Given the description of an element on the screen output the (x, y) to click on. 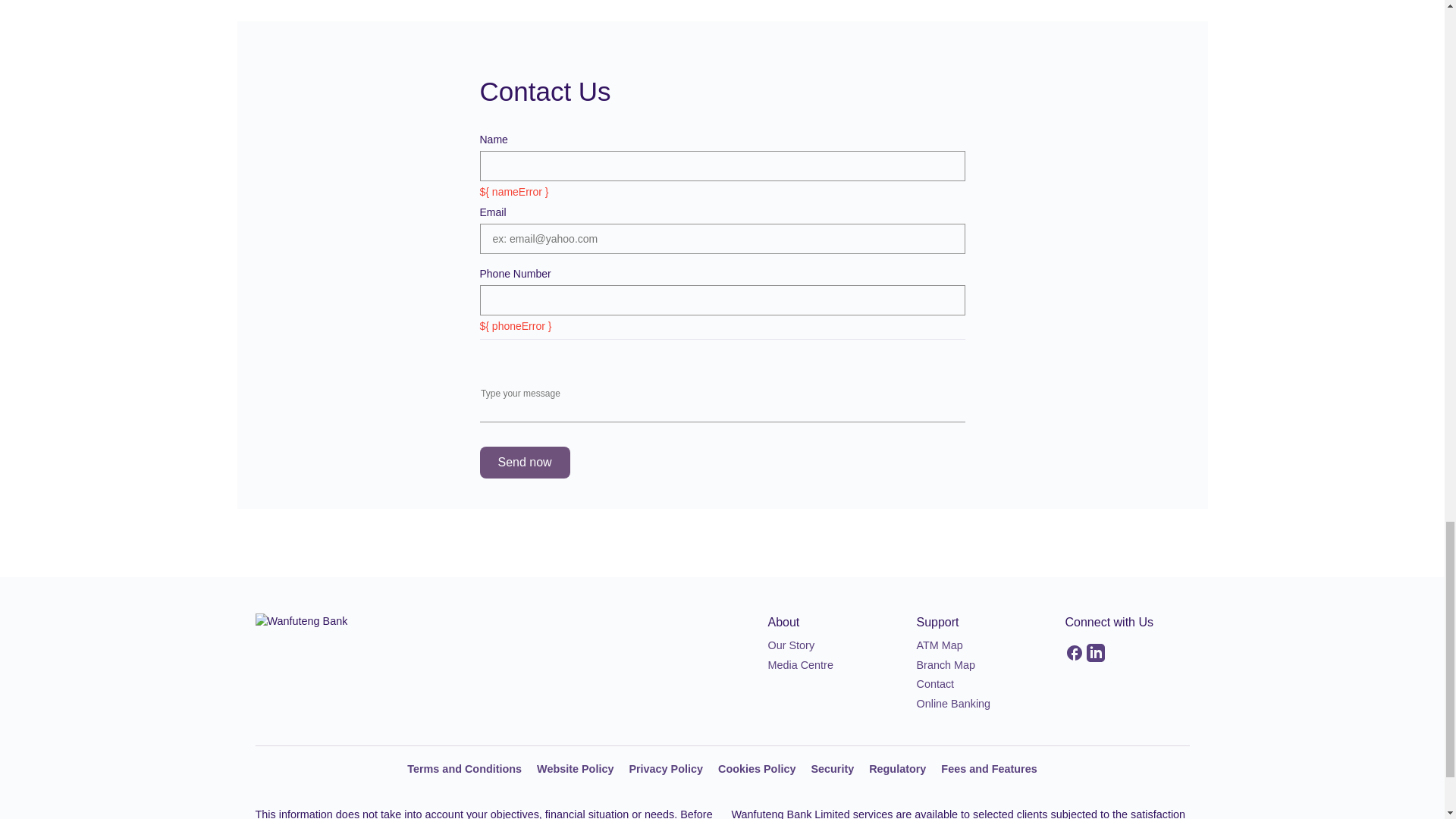
Terms and Conditions (464, 768)
Media Centre (799, 664)
Branch Map (945, 664)
Send now (524, 462)
Contact (934, 684)
Our Story (790, 645)
Online Banking (952, 703)
ATM Map (938, 645)
